Given the description of an element on the screen output the (x, y) to click on. 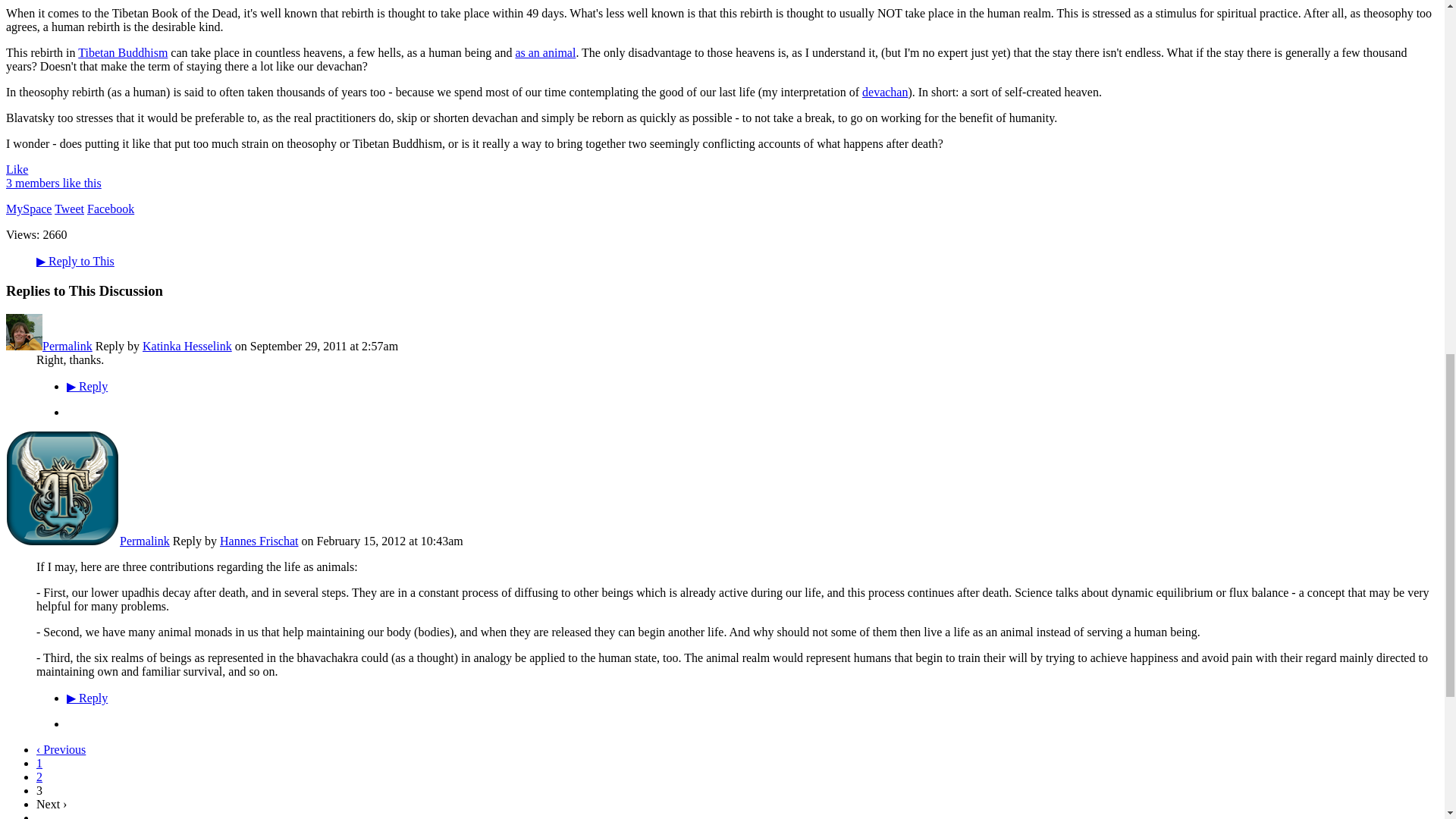
Permalink to this Reply (144, 540)
Hannes Frischat (62, 540)
devachan (884, 91)
as an animal (545, 51)
Katinka Hesselink (23, 345)
Permalink to this Reply (67, 345)
Tibetan Buddhism (122, 51)
